Given the description of an element on the screen output the (x, y) to click on. 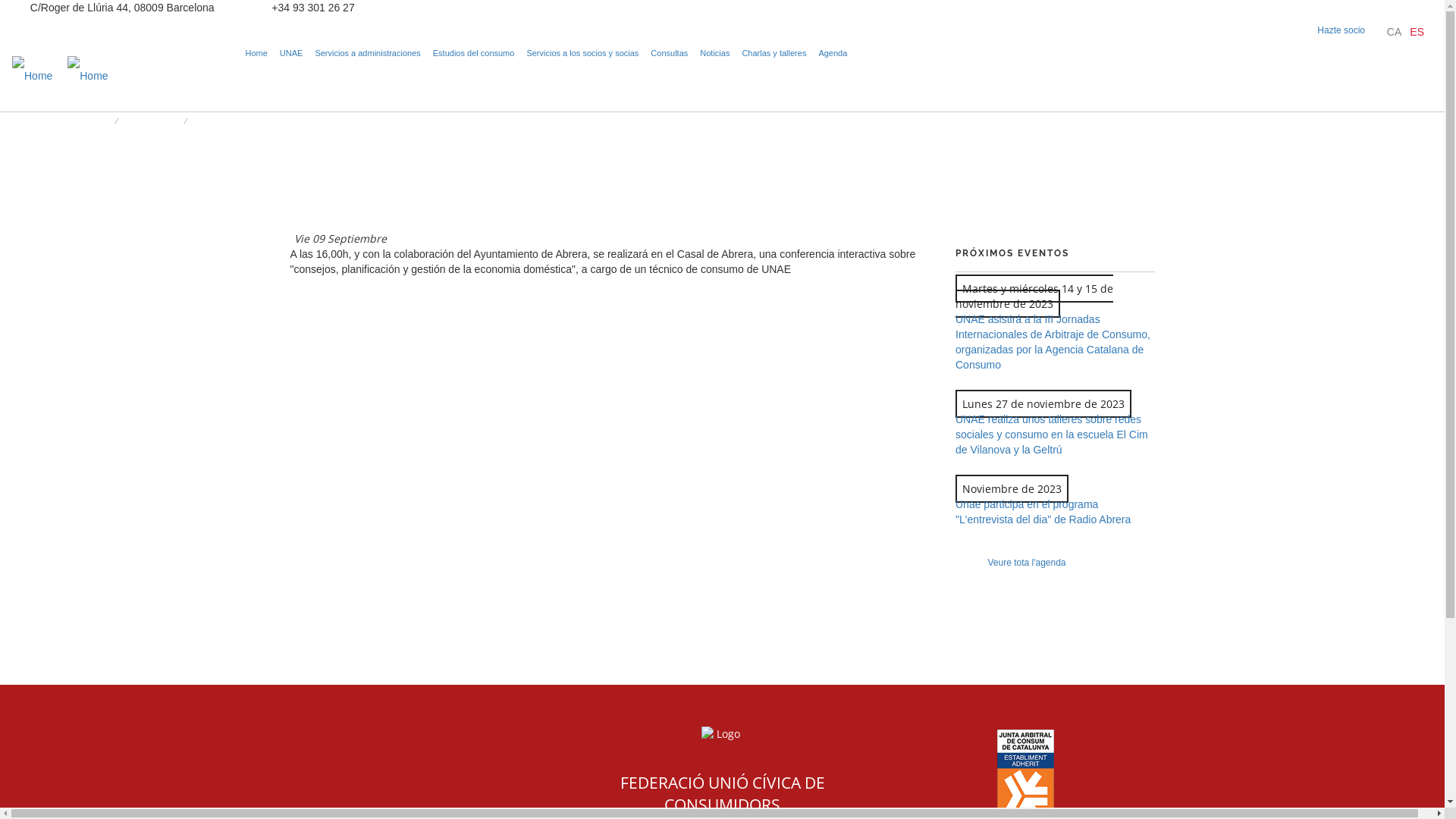
Charlas y talleres Element type: text (773, 52)
Home Element type: hover (60, 76)
CA Element type: text (1393, 31)
Home Element type: text (255, 52)
Pasar al contenido principal Element type: text (0, 0)
Noticias Element type: text (714, 52)
AGENDA Element type: text (152, 121)
UNAE Element type: text (291, 52)
Consultas Element type: text (668, 52)
Hazte socio Element type: text (1340, 29)
HOME Element type: text (87, 121)
ES Element type: text (1416, 31)
Estudios del consumo Element type: text (473, 52)
Veure tota l'agenda Element type: text (1026, 562)
Servicios a los socios y socias Element type: text (582, 52)
Agenda Element type: text (832, 52)
Servicios a administraciones Element type: text (366, 52)
